Given the description of an element on the screen output the (x, y) to click on. 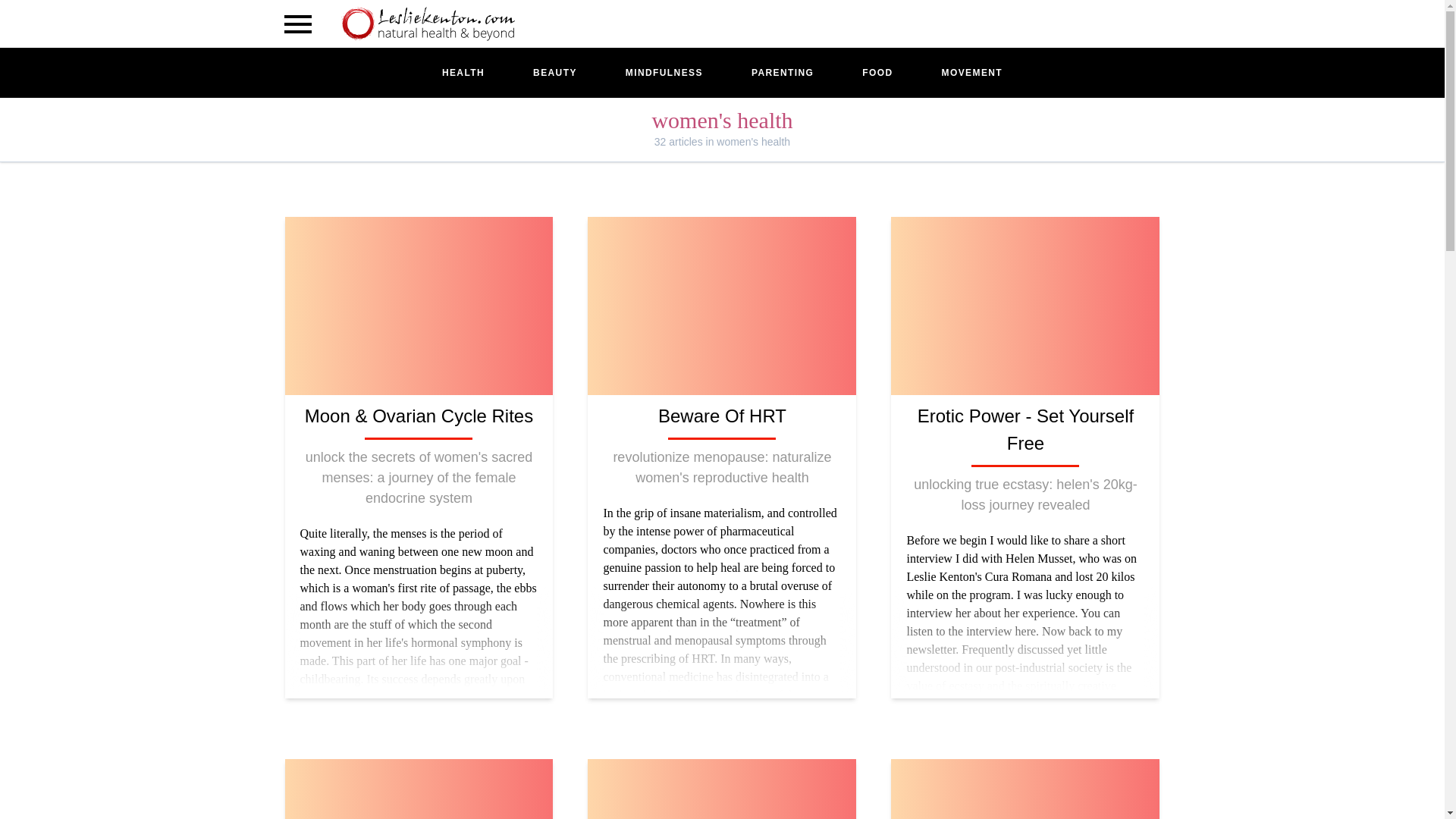
MINDFULNESS (663, 72)
FOOD (877, 72)
MOVEMENT (972, 72)
PARENTING (782, 72)
BEAUTY (554, 72)
HEALTH (462, 72)
